Given the description of an element on the screen output the (x, y) to click on. 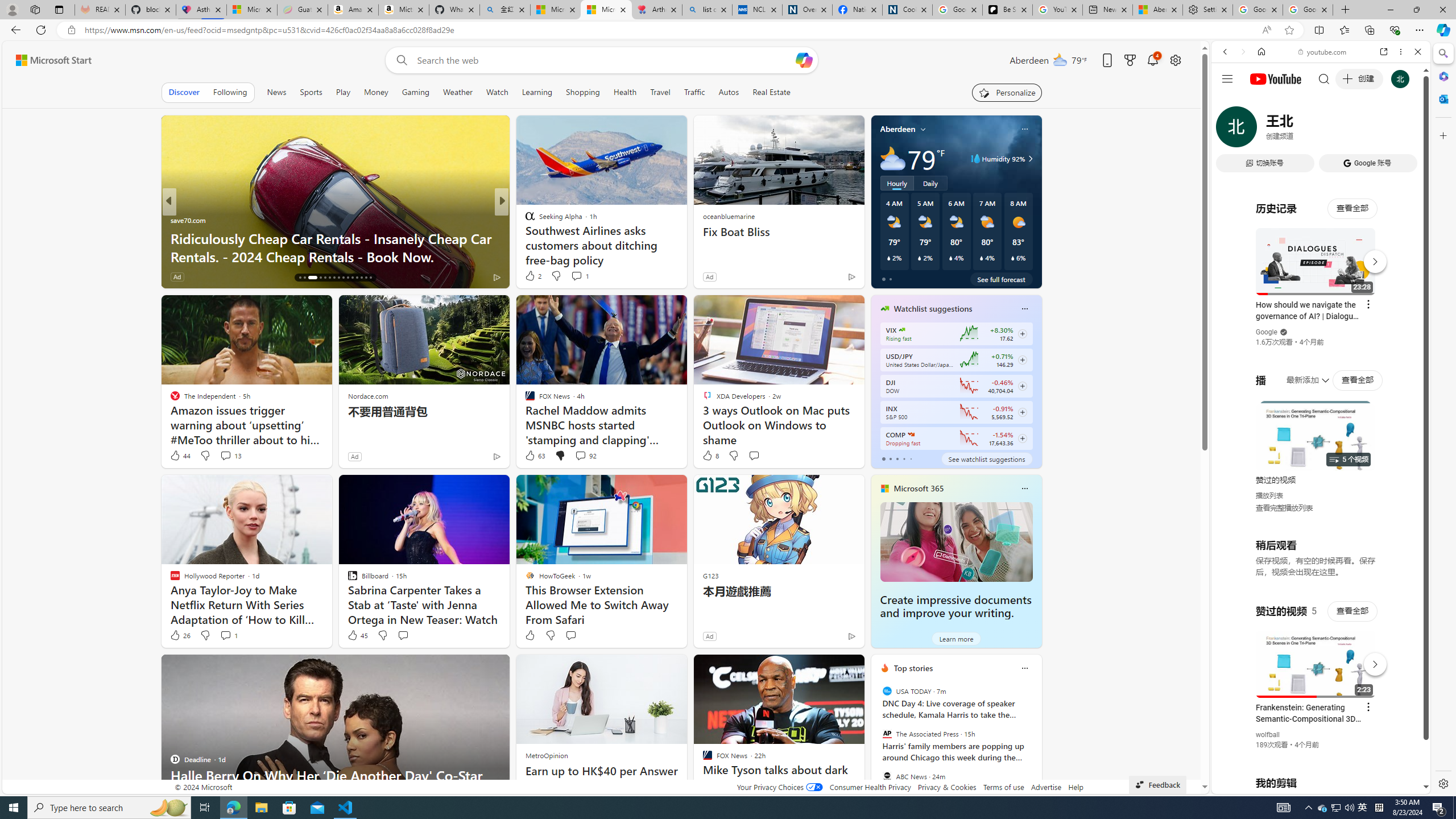
Enter your search term (603, 59)
Notifications (1152, 60)
AutomationID: tab-16 (299, 277)
Like (529, 634)
tab-4 (910, 458)
Nordace.com (367, 395)
Sports (310, 92)
Search Filter, VIDEOS (1300, 129)
CNN (524, 219)
Google (1320, 281)
tab-2 (897, 458)
